Given the description of an element on the screen output the (x, y) to click on. 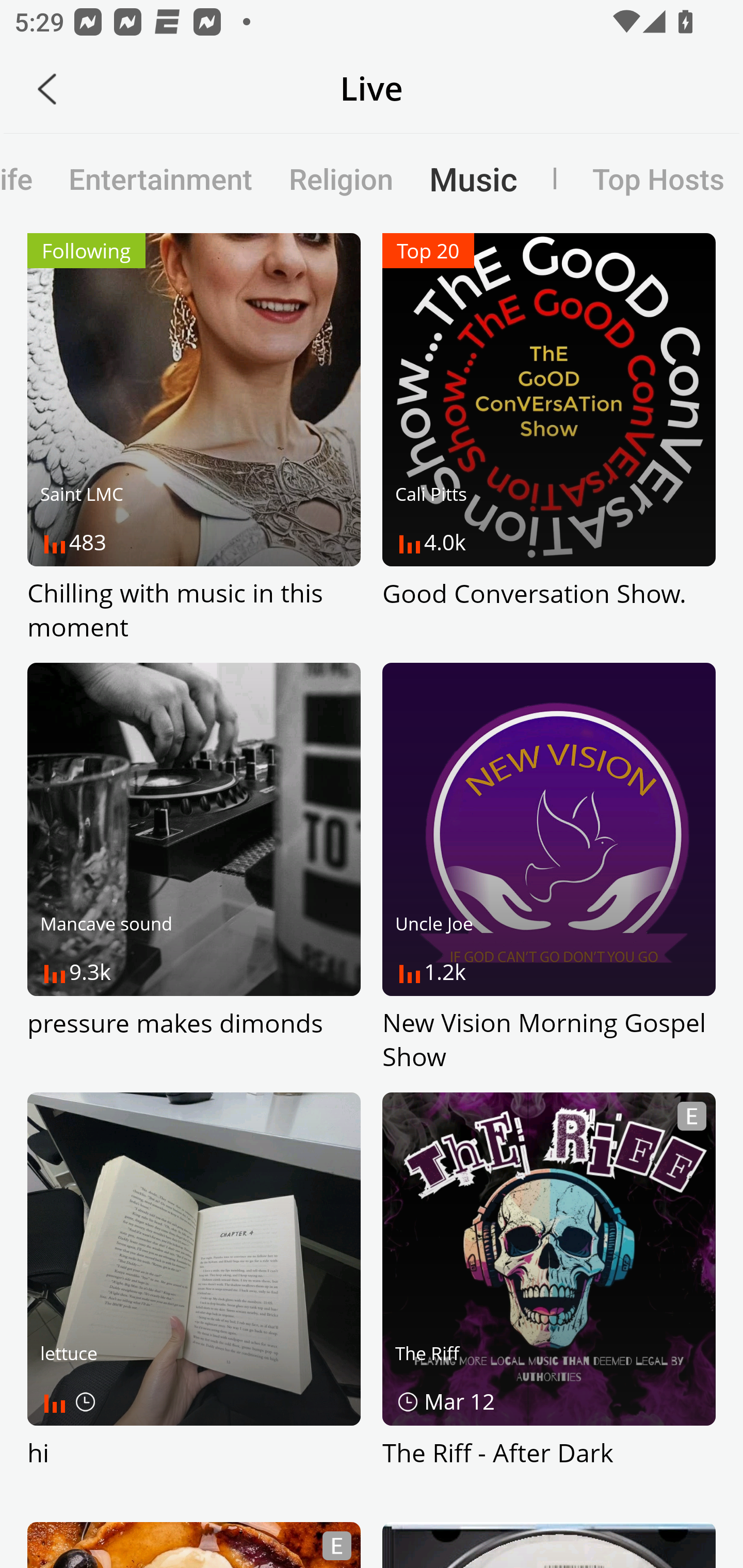
Back (46, 88)
Entertainment (160, 178)
Religion (340, 178)
Top Hosts (639, 178)
Top 20 Cali Pitts 4.0k Good Conversation Show. (548, 438)
Mancave sound 9.3k pressure makes dimonds (193, 868)
Uncle Joe 1.2k New Vision Morning Gospel Show (548, 868)
lettuce hi (193, 1297)
The Riff Mar 12 The Riff - After Dark (548, 1297)
